Given the description of an element on the screen output the (x, y) to click on. 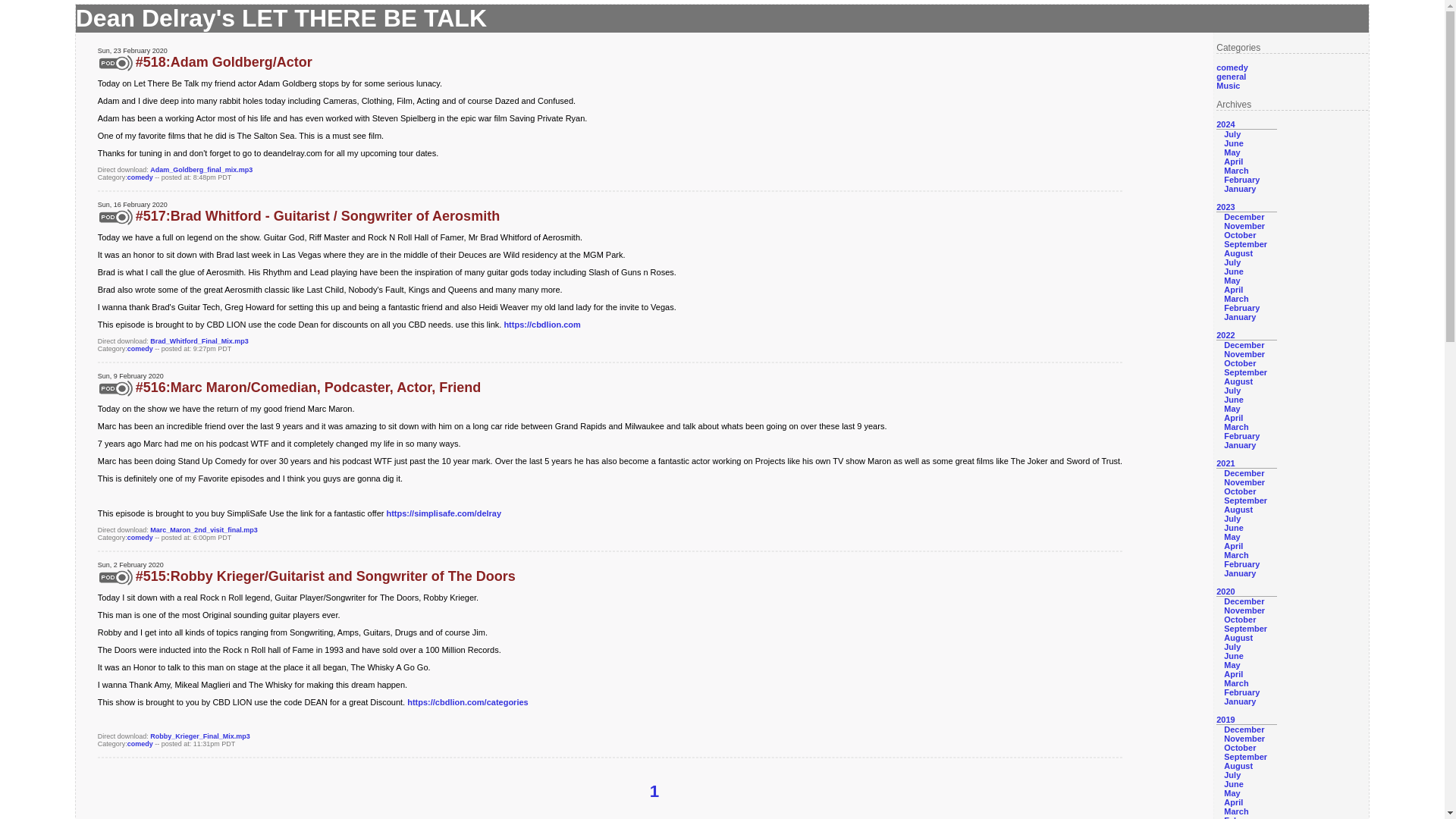
general (1230, 76)
February (1241, 179)
January (1239, 444)
February (1241, 307)
October (1239, 362)
December (1243, 216)
2023 (1224, 206)
September (1245, 243)
November (1244, 225)
July (1232, 261)
April (1233, 161)
December (1243, 344)
January (1239, 188)
May (1232, 152)
November (1244, 481)
